Given the description of an element on the screen output the (x, y) to click on. 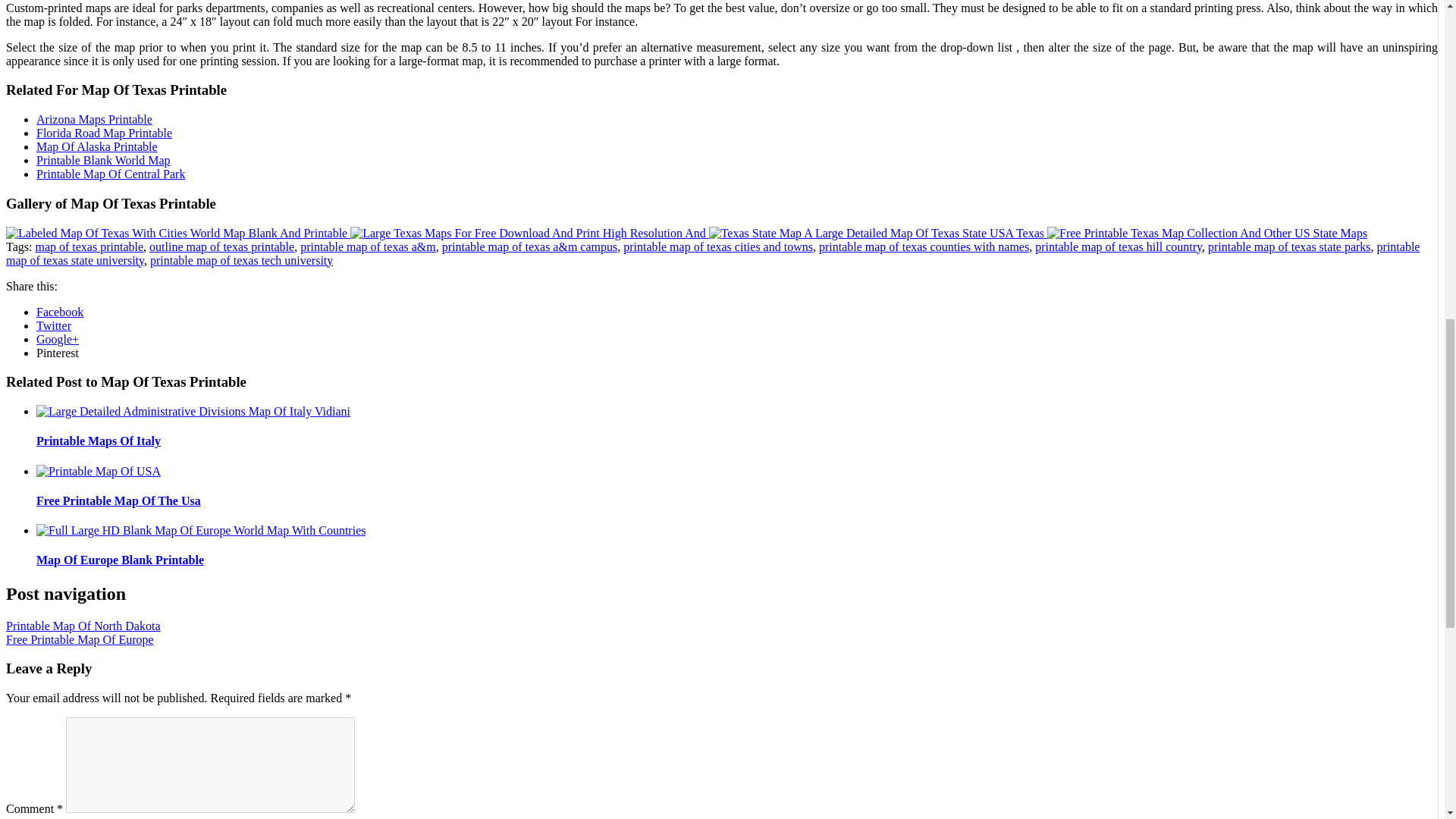
printable map of texas tech university (241, 259)
printable map of texas hill country (1118, 246)
printable map of texas cities and towns (717, 246)
Printable Blank World Map (103, 160)
outline map of texas printable (221, 246)
Twitter (53, 325)
Printable Map Of Central Park (110, 173)
printable map of texas counties with names (923, 246)
Facebook (59, 311)
